Given the description of an element on the screen output the (x, y) to click on. 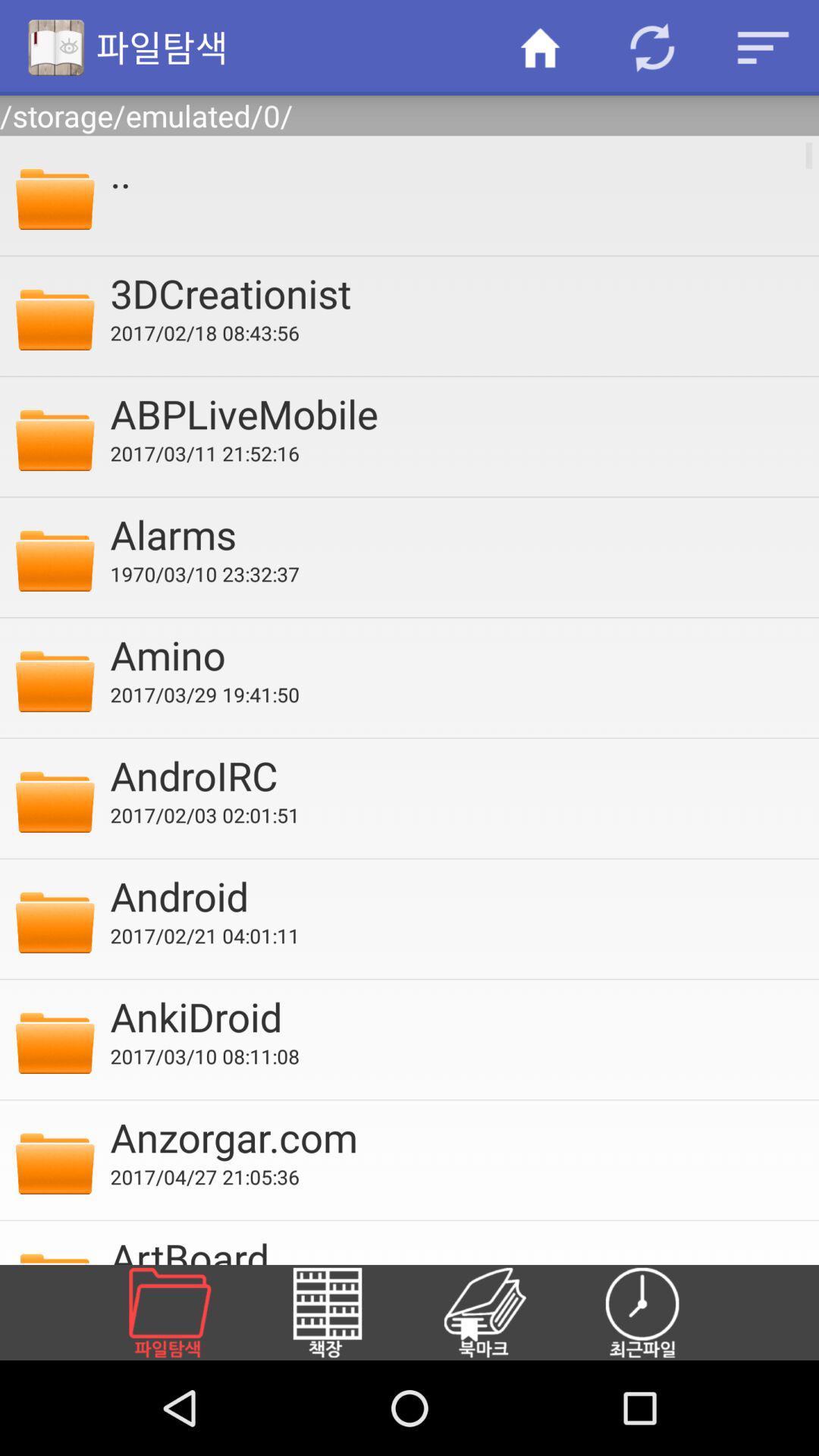
open item below artboard app (345, 1312)
